Given the description of an element on the screen output the (x, y) to click on. 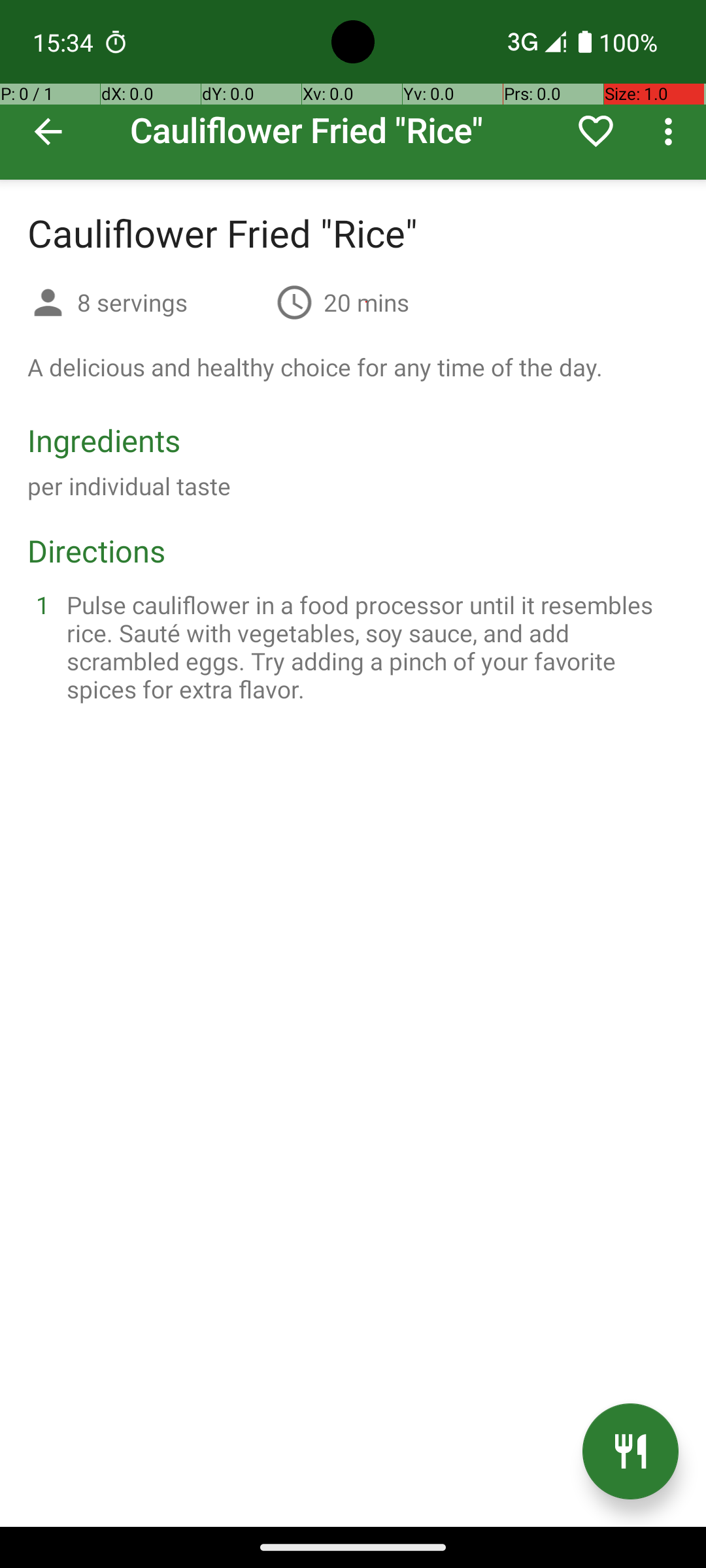
Cauliflower Fried "Rice" Element type: android.widget.FrameLayout (353, 89)
8 servings Element type: android.widget.TextView (170, 301)
20 mins Element type: android.widget.TextView (366, 301)
per individual taste Element type: android.widget.TextView (128, 485)
Pulse cauliflower in a food processor until it resembles rice. Sauté with vegetables, soy sauce, and add scrambled eggs. Try adding a pinch of your favorite spices for extra flavor. Element type: android.widget.TextView (368, 646)
